Given the description of an element on the screen output the (x, y) to click on. 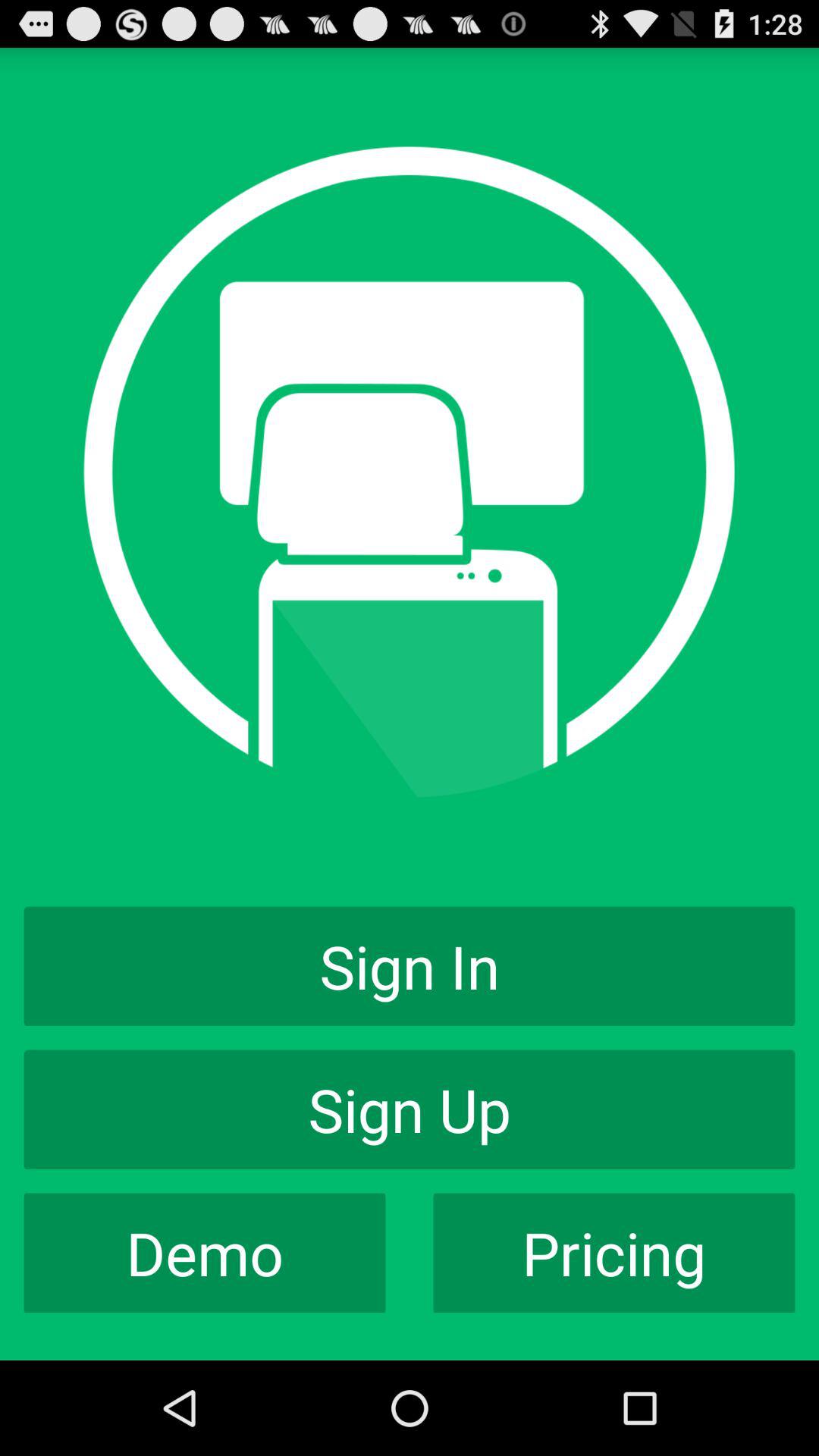
turn on sign in (409, 966)
